Given the description of an element on the screen output the (x, y) to click on. 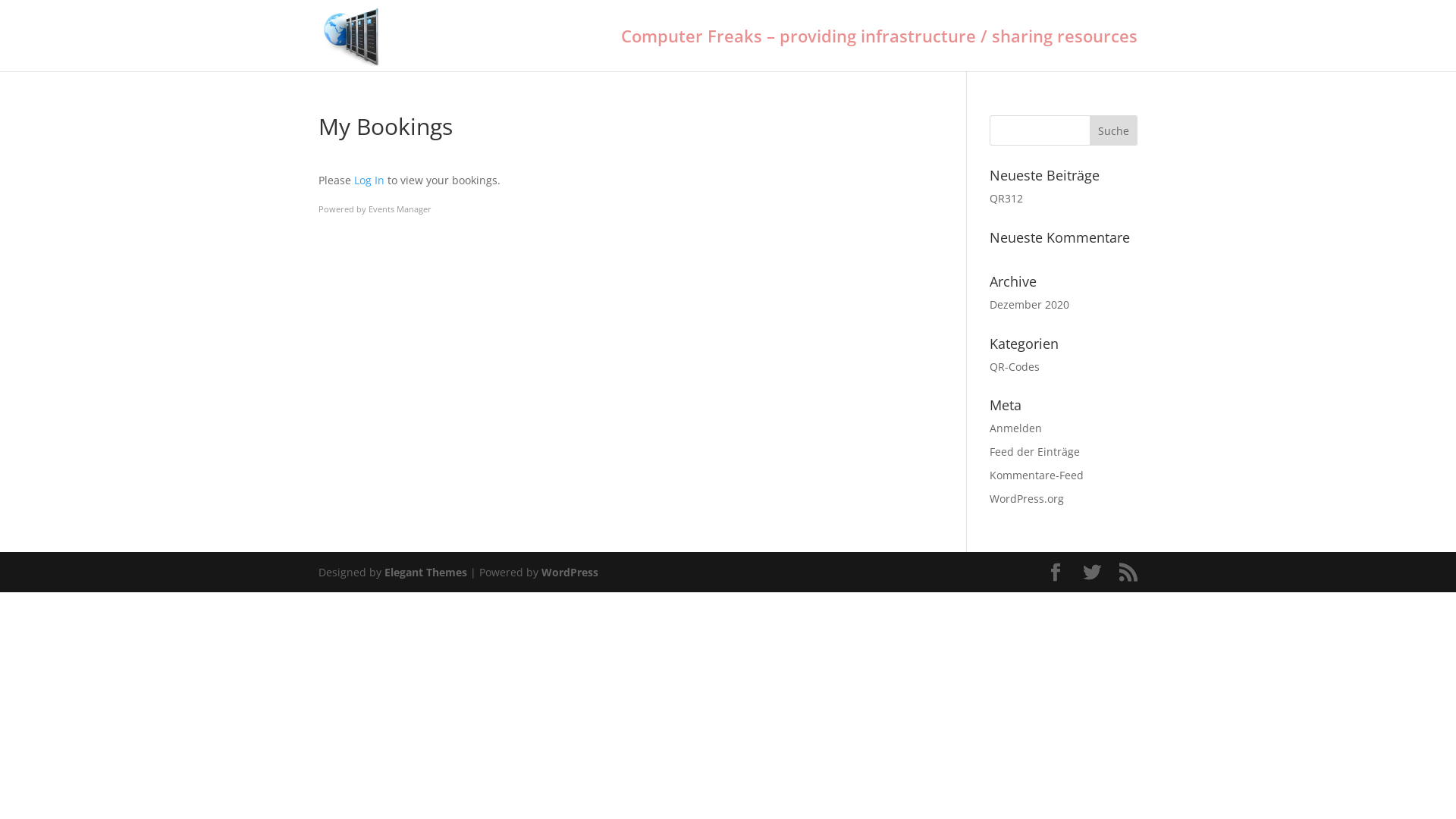
QR-Codes Element type: text (1014, 366)
Dezember 2020 Element type: text (1029, 304)
WordPress Element type: text (569, 571)
Anmelden Element type: text (1015, 427)
Kommentare-Feed Element type: text (1036, 474)
Log In Element type: text (369, 179)
Elegant Themes Element type: text (425, 571)
WordPress.org Element type: text (1026, 498)
QR312 Element type: text (1005, 198)
Events Manager Element type: text (399, 208)
Suche Element type: text (1113, 130)
